Given the description of an element on the screen output the (x, y) to click on. 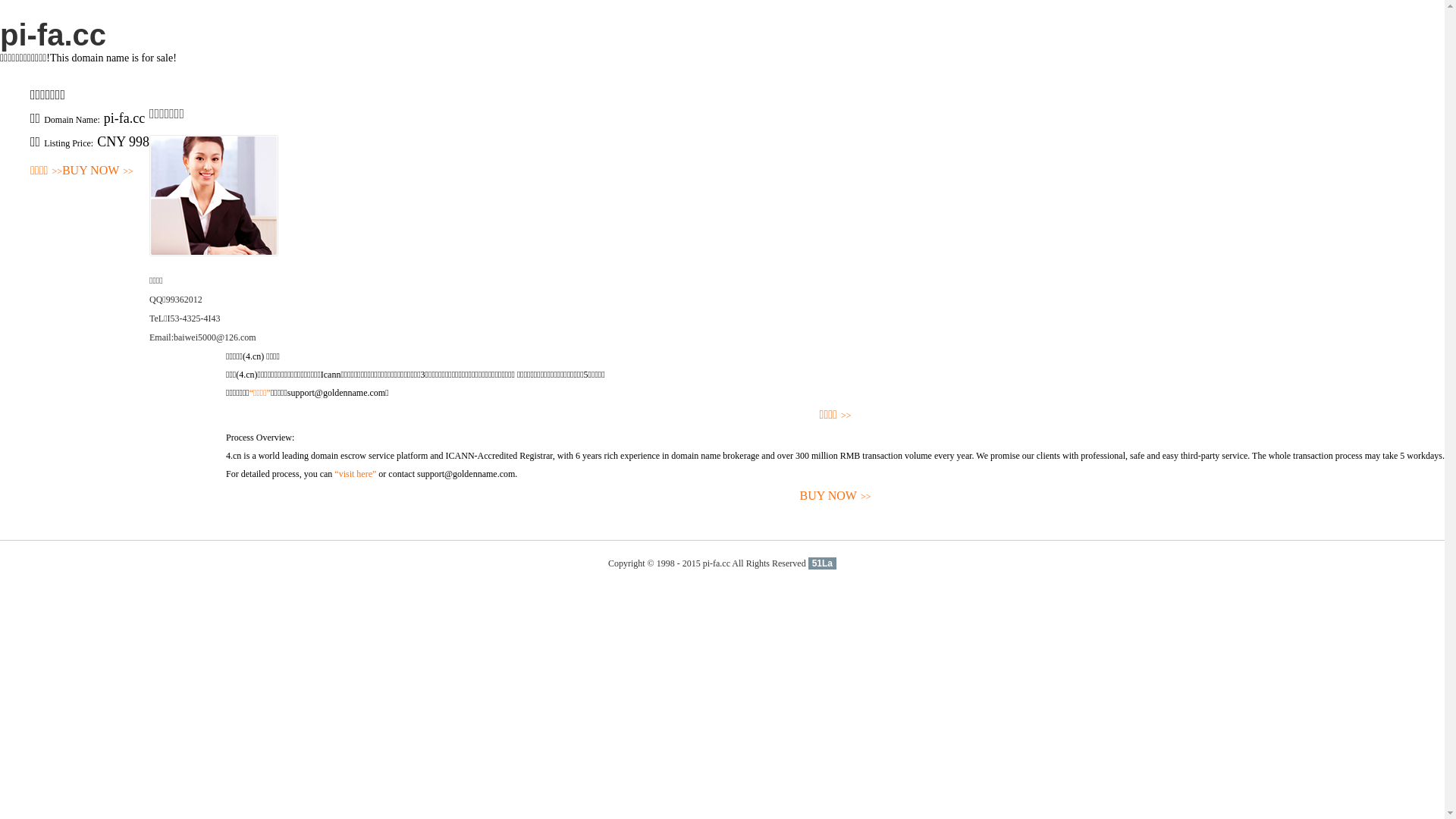
BUY NOW>> Element type: text (97, 170)
BUY NOW>> Element type: text (834, 496)
51La Element type: text (822, 563)
